Given the description of an element on the screen output the (x, y) to click on. 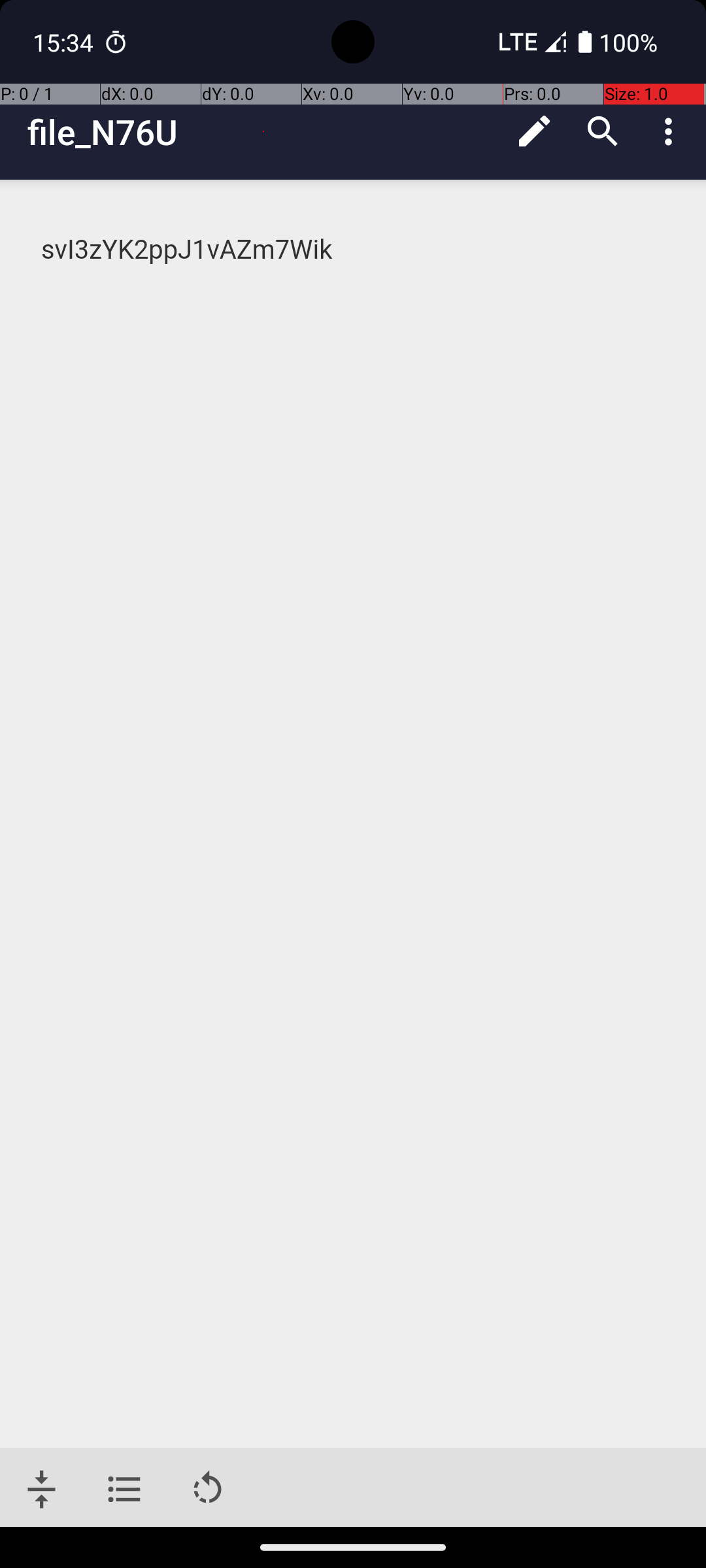
file_N76U Element type: android.widget.TextView (263, 131)
svI3zYK2ppJ1vAZm7Wik Element type: android.widget.TextView (354, 249)
